Given the description of an element on the screen output the (x, y) to click on. 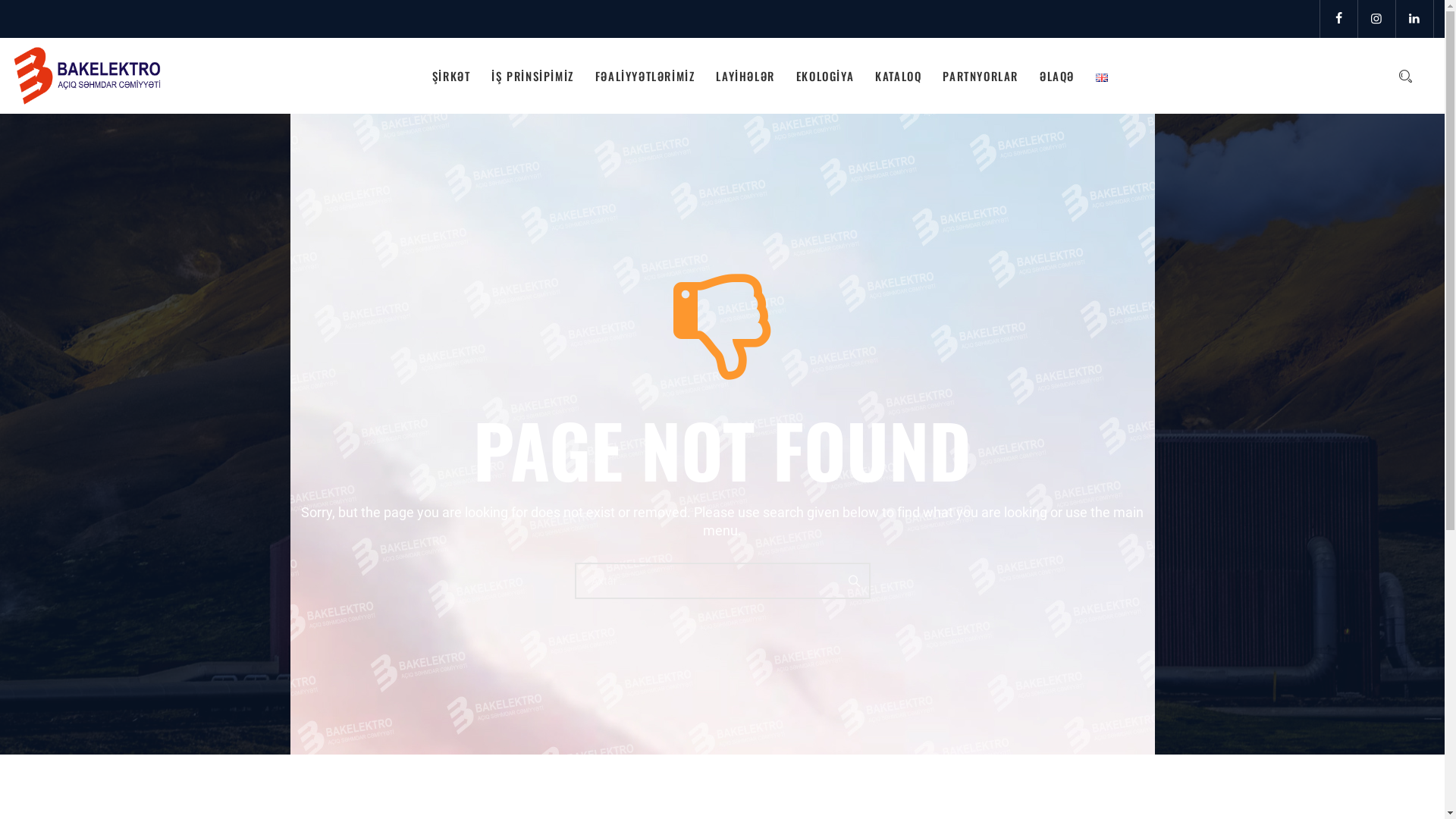
KATALOQ Element type: text (898, 75)
Bakelektro.az Element type: hover (87, 75)
PARTNYORLAR Element type: text (980, 75)
Axtar Element type: text (852, 579)
